Given the description of an element on the screen output the (x, y) to click on. 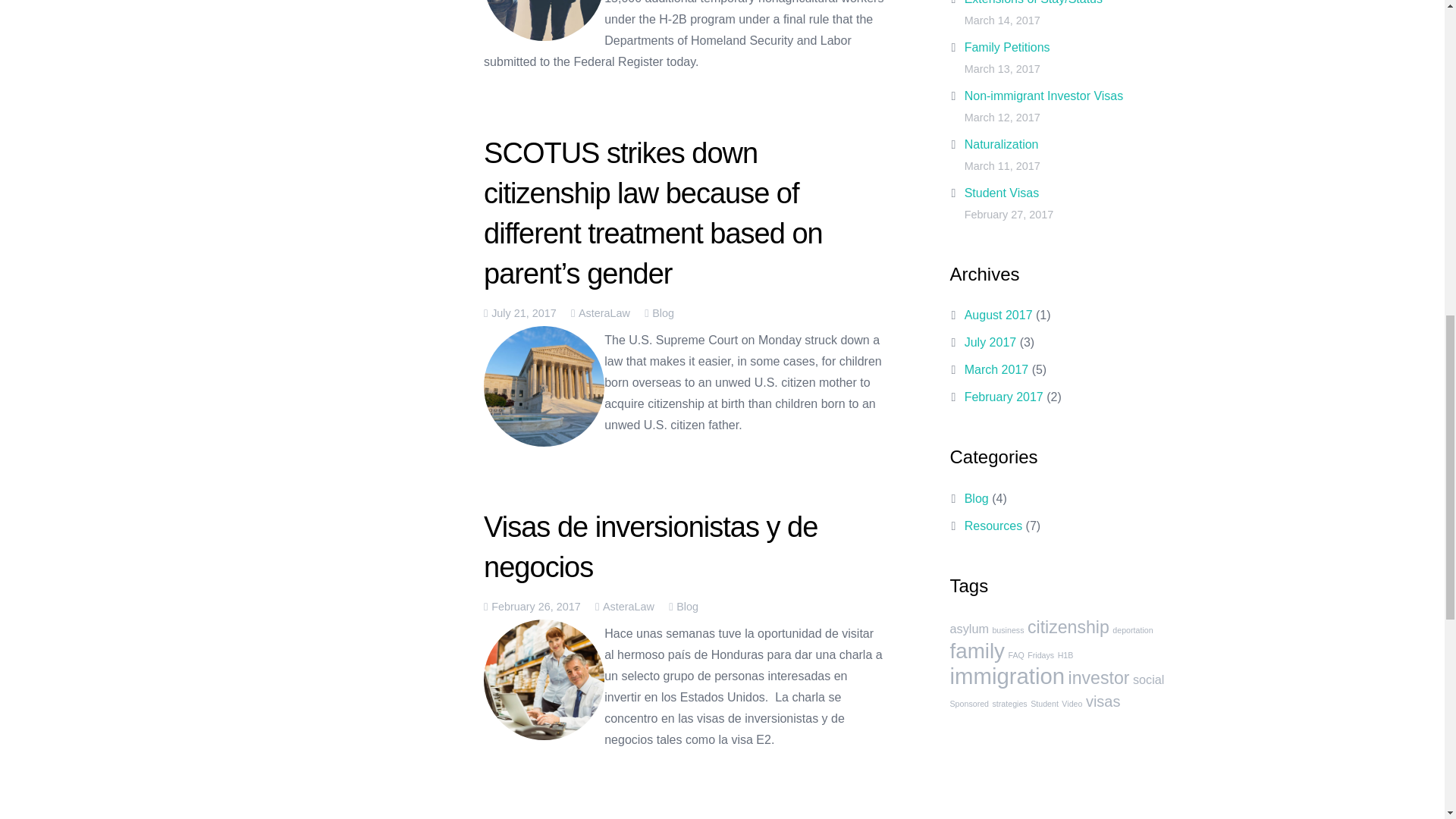
Blog (663, 313)
Visas de inversionistas y de negocios (649, 547)
Back to top (1413, 30)
AsteraLaw (627, 606)
AsteraLaw (604, 313)
